Given the description of an element on the screen output the (x, y) to click on. 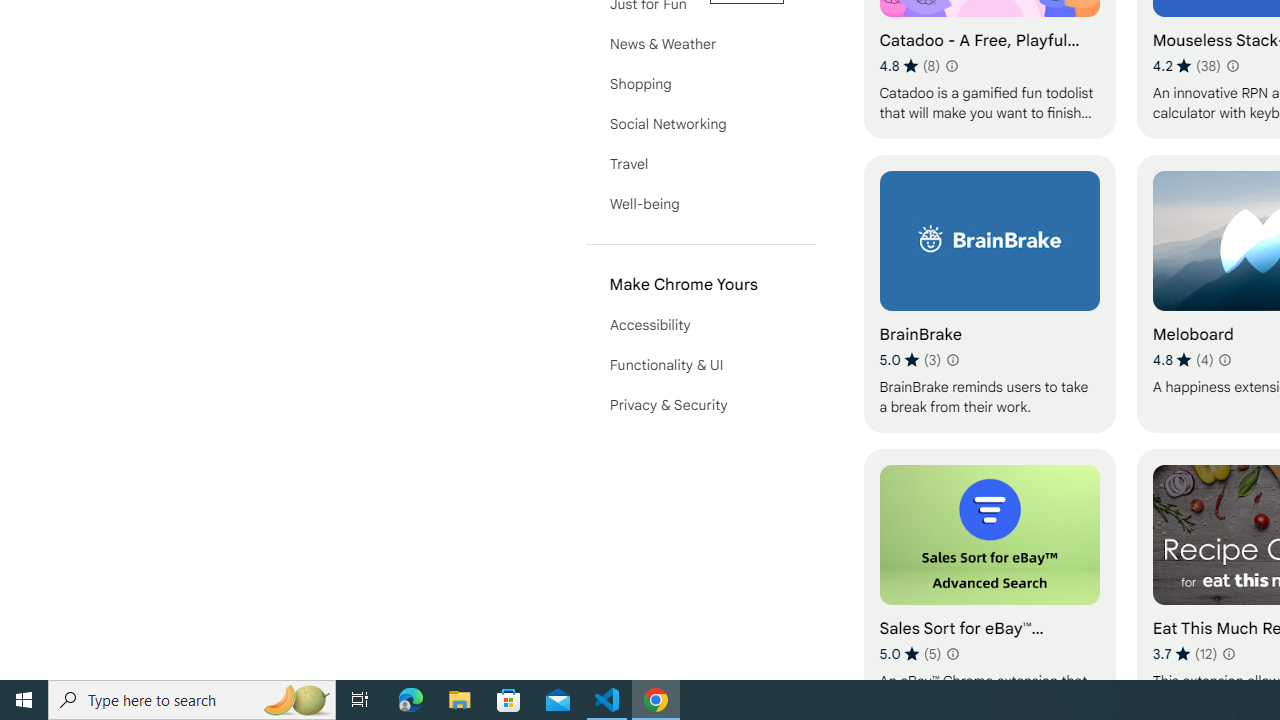
News & Weather (700, 43)
Average rating 4.2 out of 5 stars. 38 ratings. (1187, 66)
BrainBrake (989, 293)
Social Networking (700, 123)
